Given the description of an element on the screen output the (x, y) to click on. 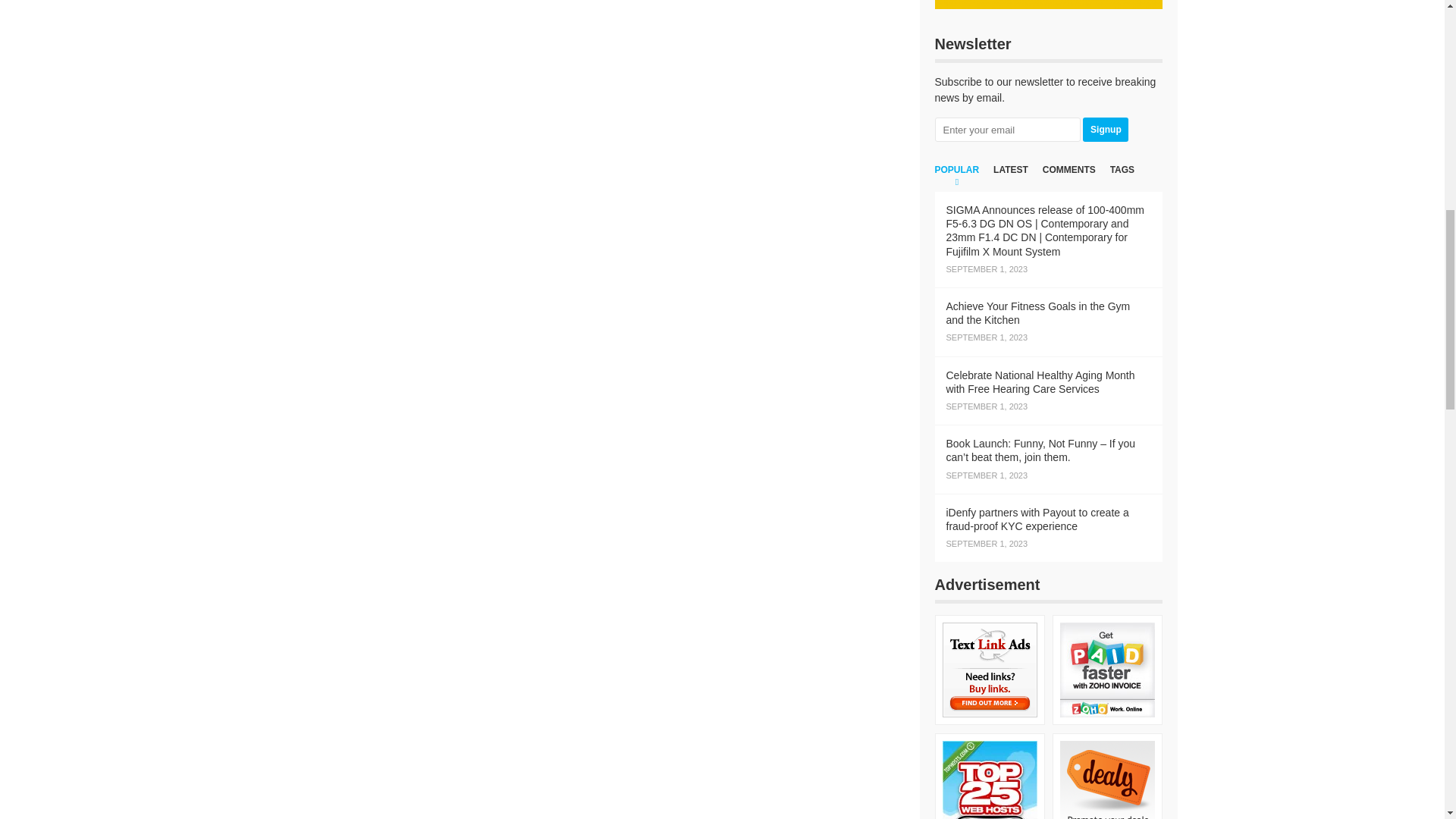
Popular (956, 177)
Tags (1121, 177)
Latest (1009, 177)
Comments (1069, 177)
